Given the description of an element on the screen output the (x, y) to click on. 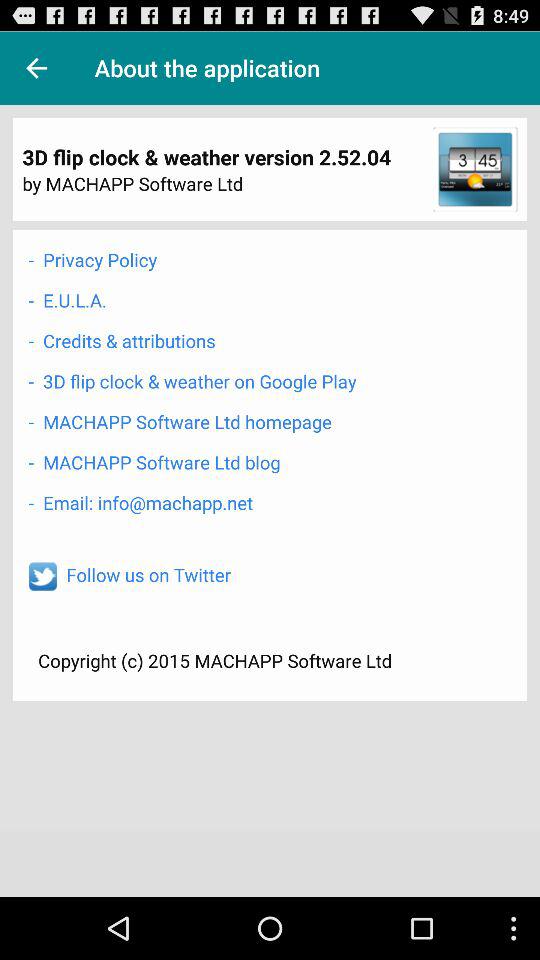
click to follow on twitter (42, 576)
